Given the description of an element on the screen output the (x, y) to click on. 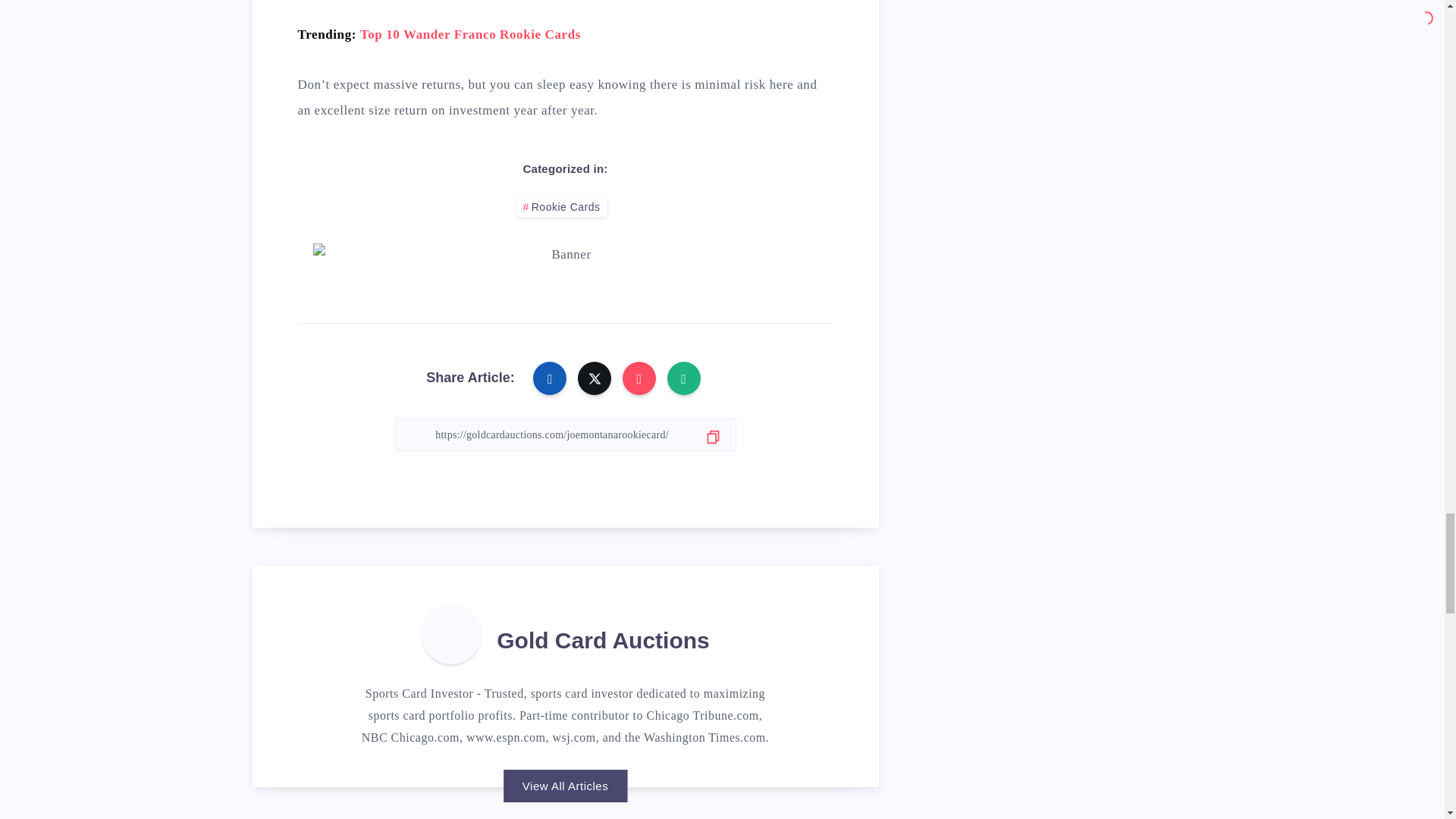
Top 10 Wander Franco Rookie Cards (469, 34)
Author: Gold Card Auctions (450, 633)
